Given the description of an element on the screen output the (x, y) to click on. 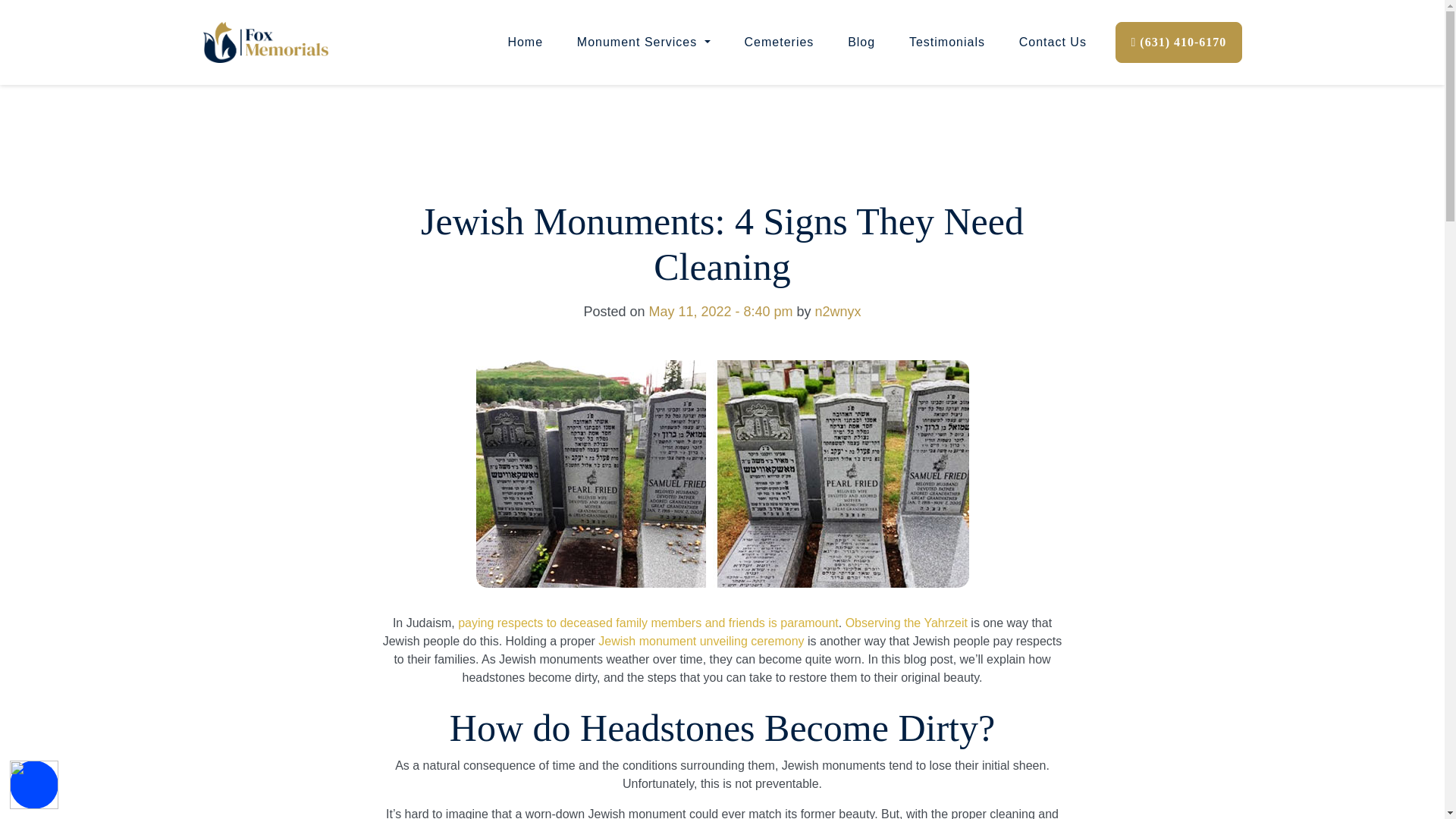
Planning a Jewish Memorial Service (648, 622)
Observing the Yahrzeit (906, 622)
Home (524, 42)
May 11, 2022 - 8:40 pm (719, 311)
n2wnyx (838, 311)
Yahrzeit Traditions and Candles (906, 622)
Accessibility Menu (34, 784)
View all posts by n2wnyx (838, 311)
May 11, 2022 - 8:40 pm (719, 311)
Blog (861, 42)
Testimonials (947, 42)
Jewish monument unveiling ceremony (700, 640)
Cemeteries (778, 42)
Fox Memorials (266, 42)
